Given the description of an element on the screen output the (x, y) to click on. 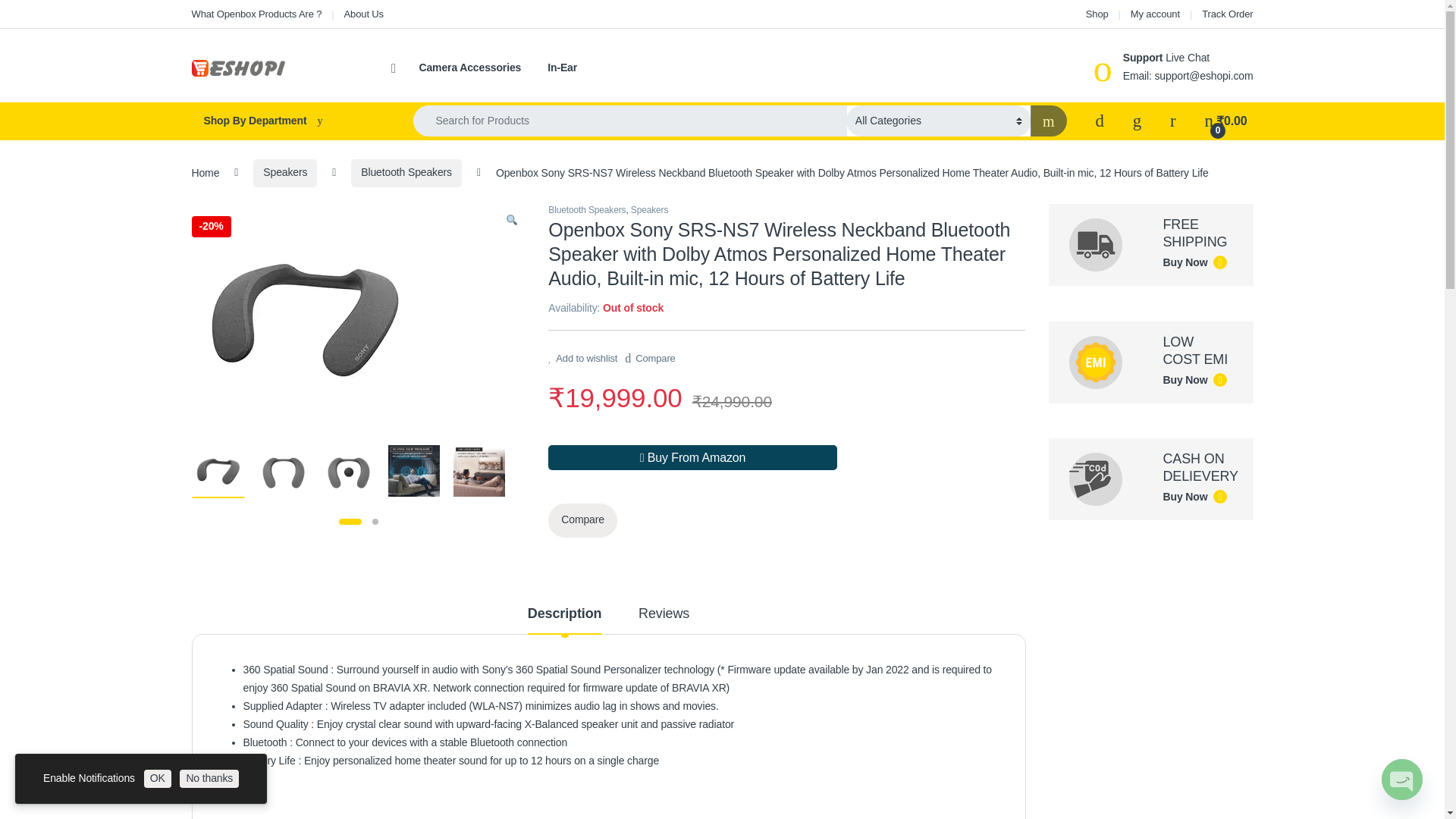
Track Order (1227, 13)
My account (1155, 13)
What Openbox Products Are ? (255, 13)
About Us (363, 13)
About Us (363, 13)
Track Order (1227, 13)
My account (1155, 13)
What Openbox Products Are ? (255, 13)
